Given the description of an element on the screen output the (x, y) to click on. 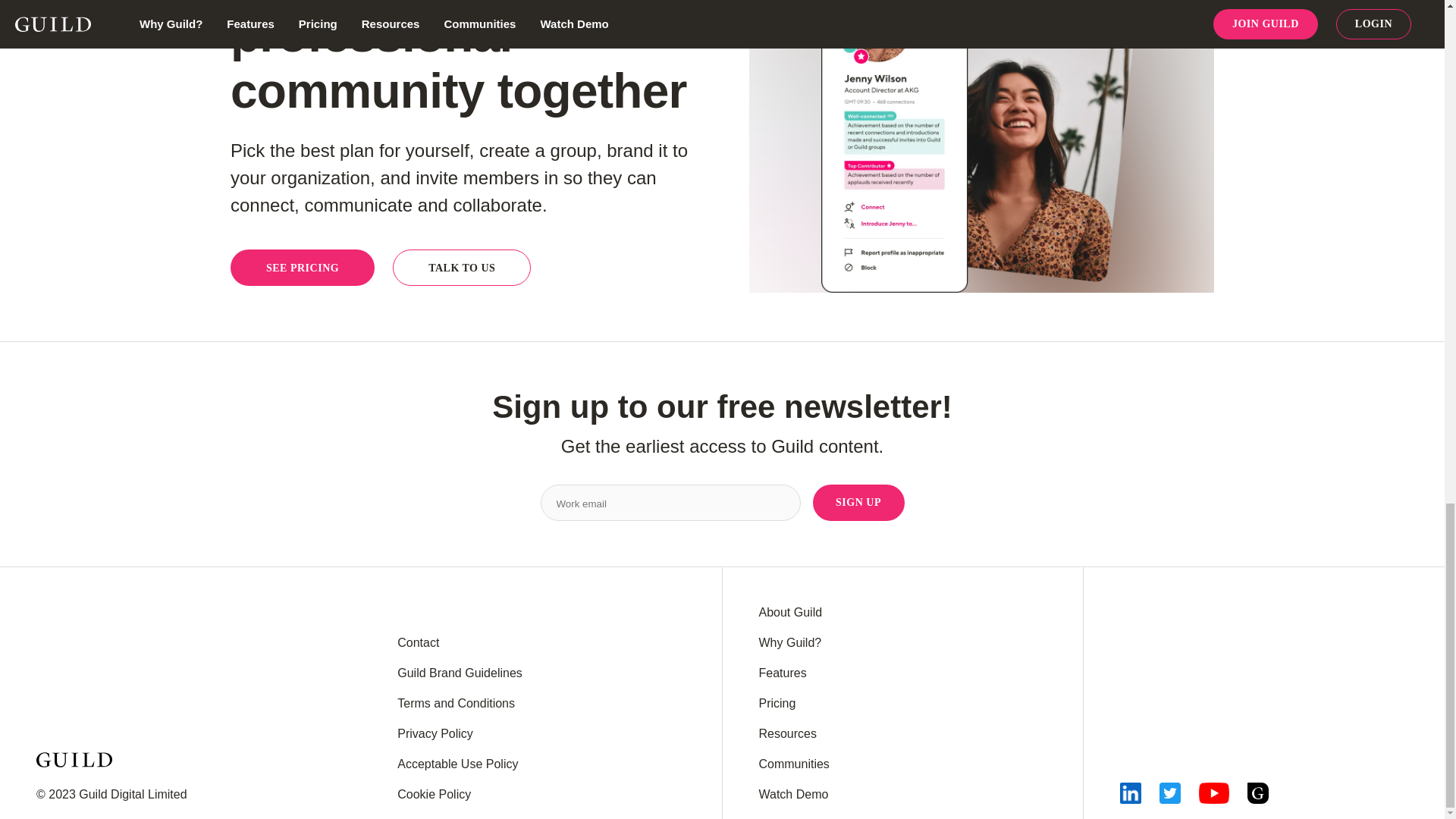
Watch Demo (793, 793)
Pricing (776, 703)
Privacy Policy (435, 733)
Guild Brand Guidelines (459, 672)
Why Guild? (789, 642)
Contact (418, 642)
Communities (793, 763)
Features (782, 672)
Acceptable Use Policy (457, 763)
Cookie Policy (433, 793)
